Given the description of an element on the screen output the (x, y) to click on. 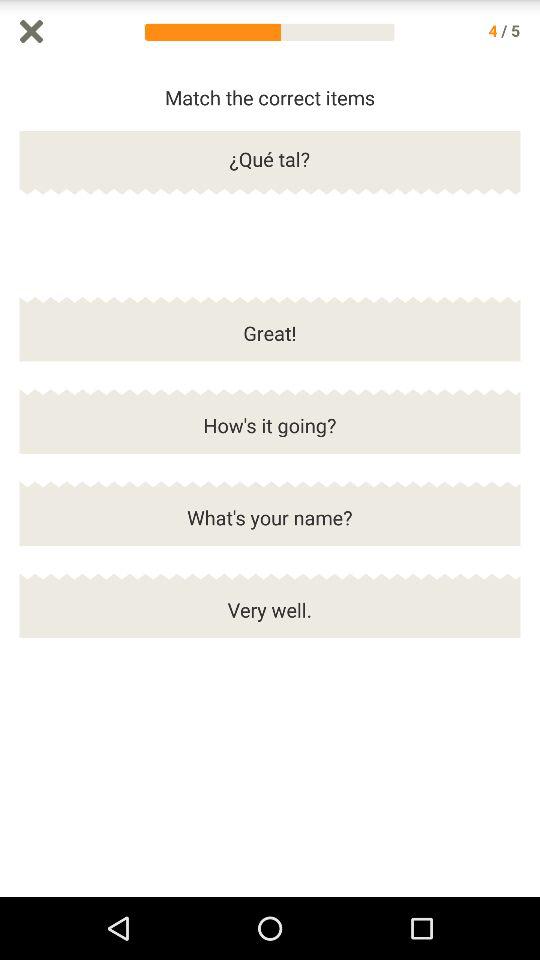
select the very well text (270, 618)
select the text hows it going (270, 433)
